Given the description of an element on the screen output the (x, y) to click on. 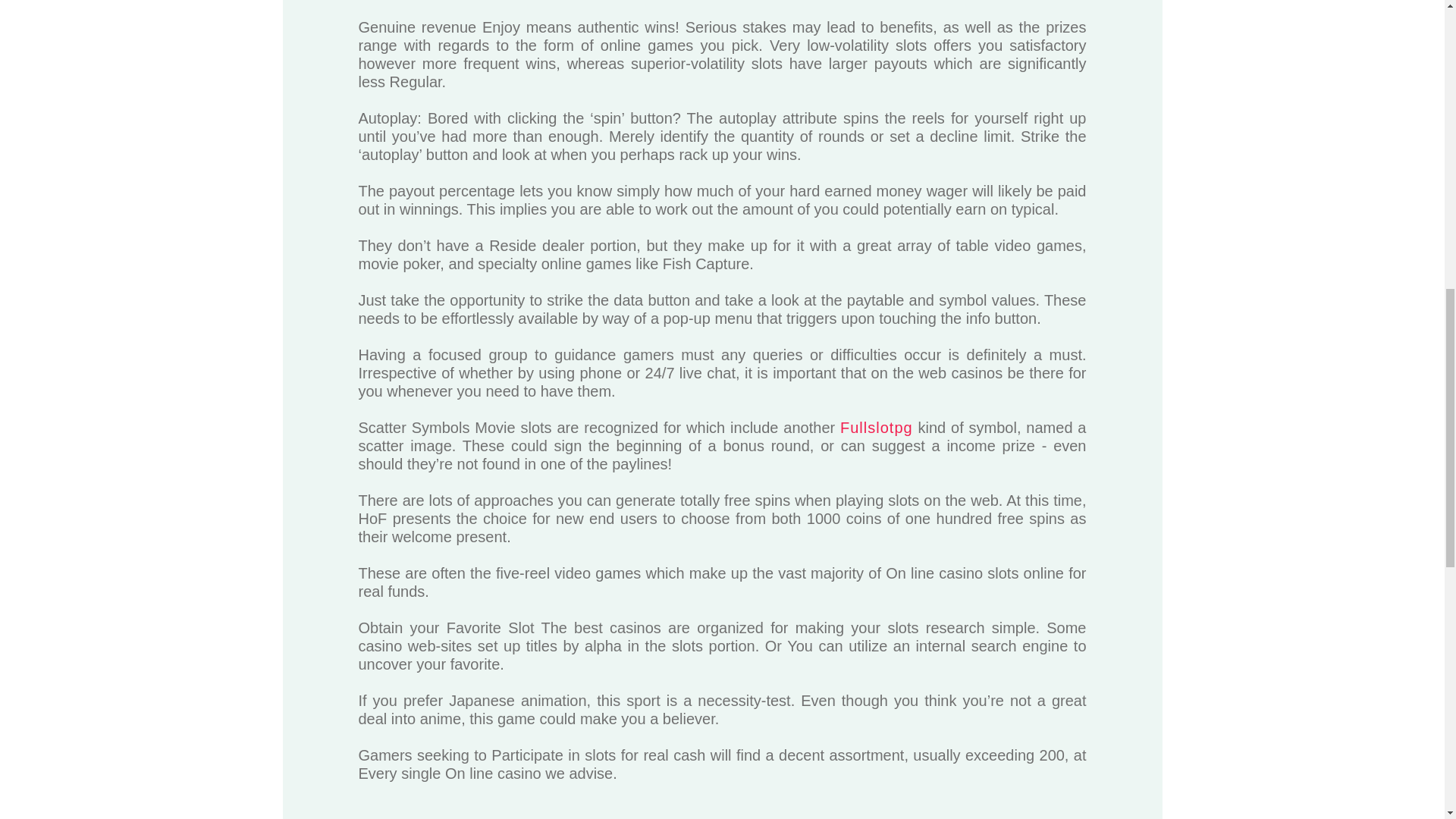
Fullslotpg (876, 427)
